Given the description of an element on the screen output the (x, y) to click on. 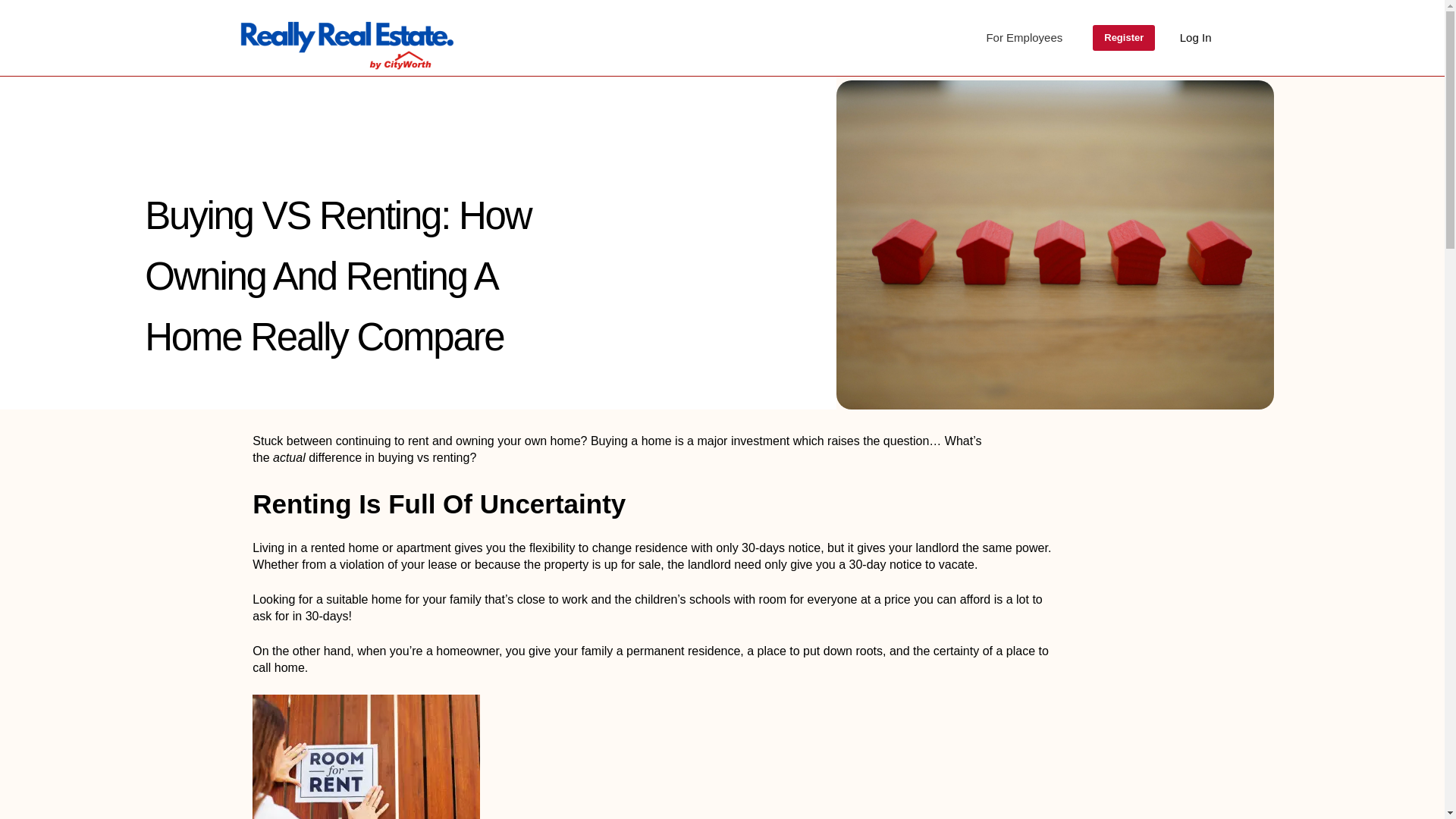
Register (1123, 37)
Skip to content (15, 7)
For Employees (1024, 38)
